Given the description of an element on the screen output the (x, y) to click on. 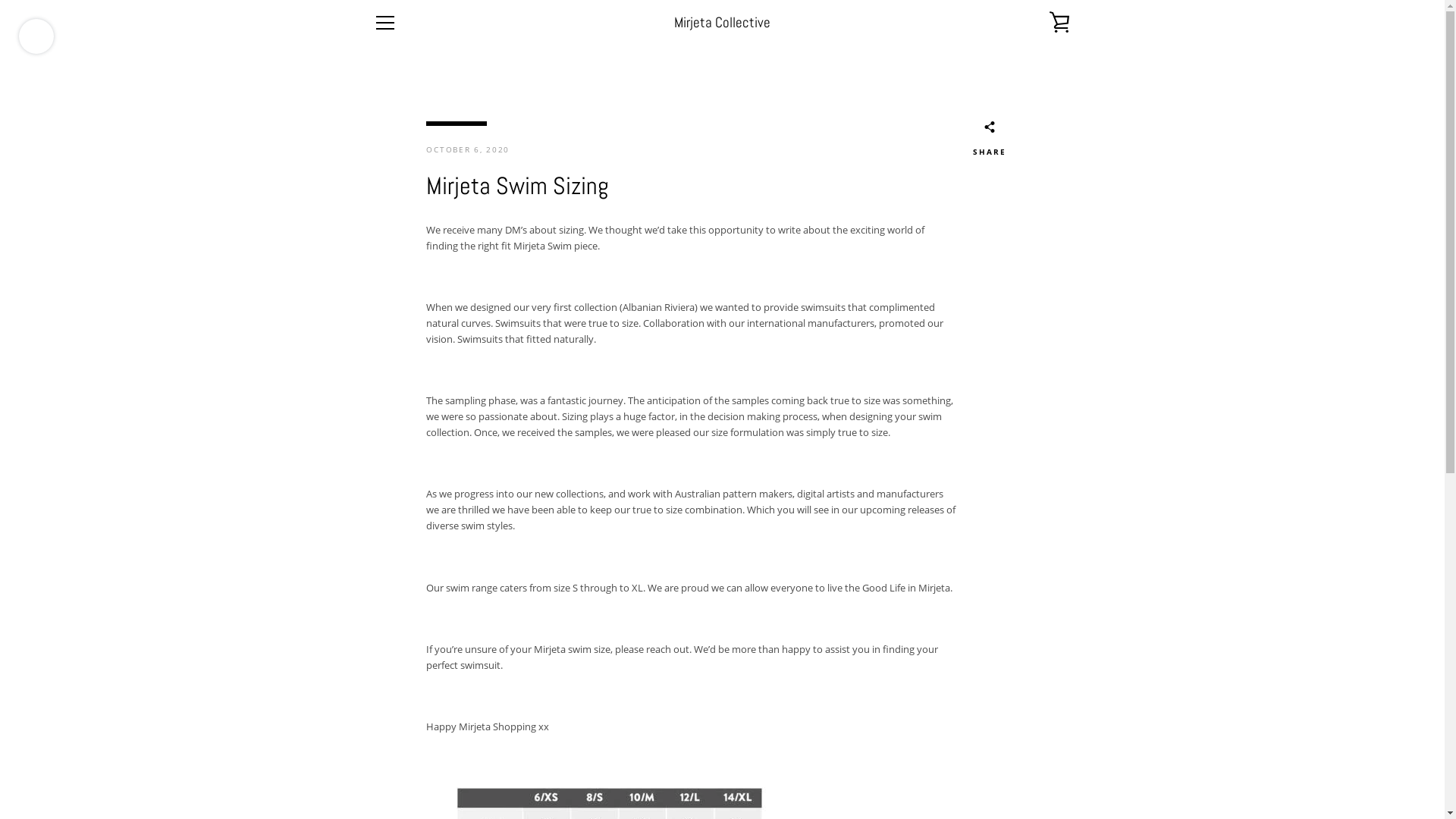
FAQ'S Element type: text (385, 660)
VIEW CART Element type: text (1059, 22)
Facebook Element type: text (372, 764)
Mirjeta Collective Element type: text (753, 766)
ABOUT US Element type: text (396, 641)
SHARE Element type: text (988, 140)
CONTACT US Element type: text (401, 698)
LEGALS Element type: text (389, 679)
SUBSCRIBE Element type: text (1038, 678)
SEARCH Element type: text (390, 621)
Instagram Element type: text (398, 764)
Mirjeta Collective Element type: text (722, 22)
Skip to content Element type: text (0, 0)
MENU Element type: text (384, 22)
